Given the description of an element on the screen output the (x, y) to click on. 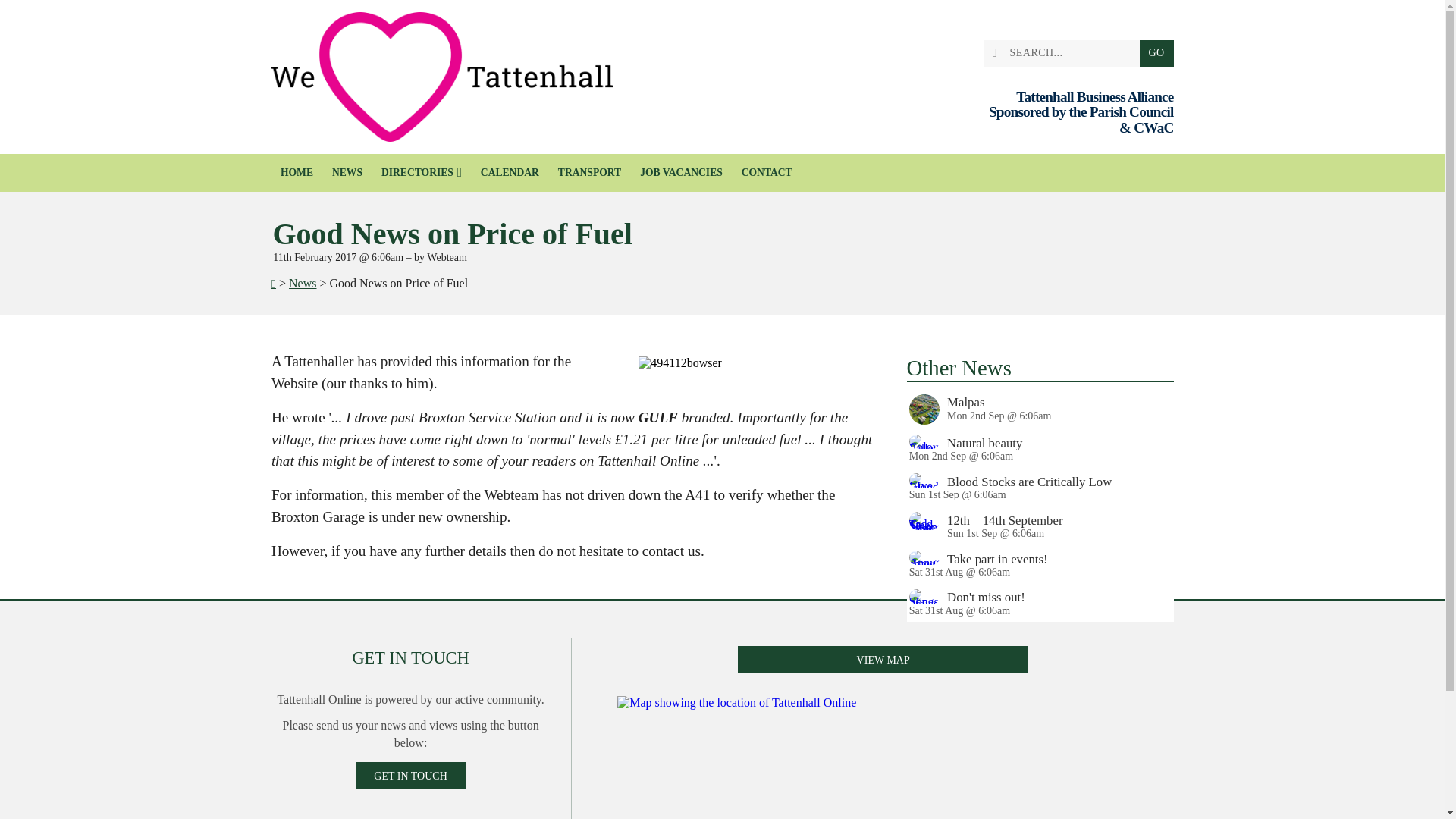
JOB VACANCIES (681, 172)
News (301, 282)
SEARCH... (1065, 53)
GET IN TOUCH (410, 775)
CONTACT (767, 172)
Tattenhall Online Home (441, 76)
HOME (296, 172)
NEWS (346, 172)
